Given the description of an element on the screen output the (x, y) to click on. 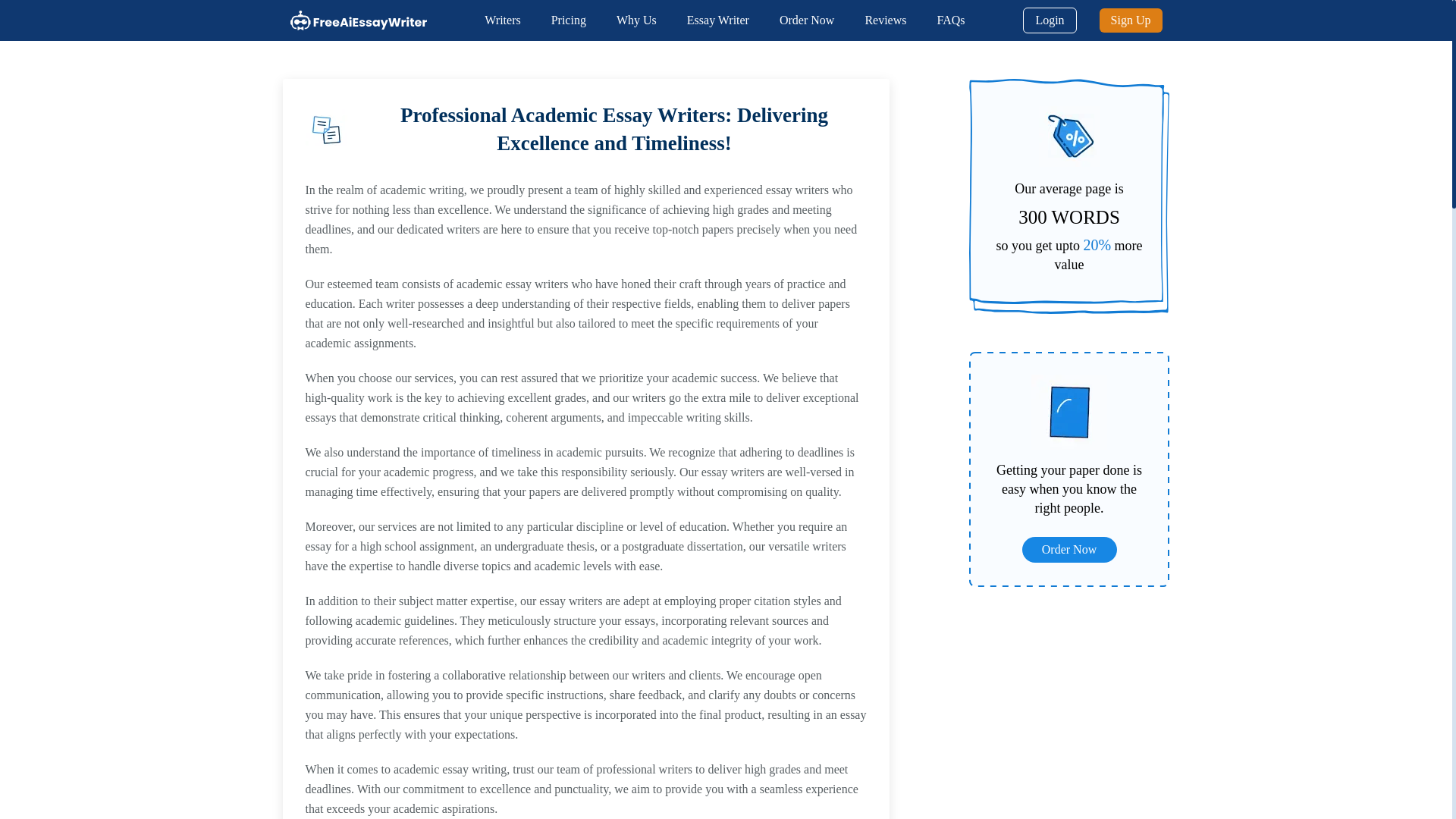
Order Now (806, 20)
Essay Writer (718, 20)
FAQs (949, 20)
Pricing (568, 20)
Reviews (884, 20)
Sign Up (1130, 20)
Order Now (1069, 549)
Writers (501, 20)
Why Us (635, 20)
Login (1049, 20)
